Given the description of an element on the screen output the (x, y) to click on. 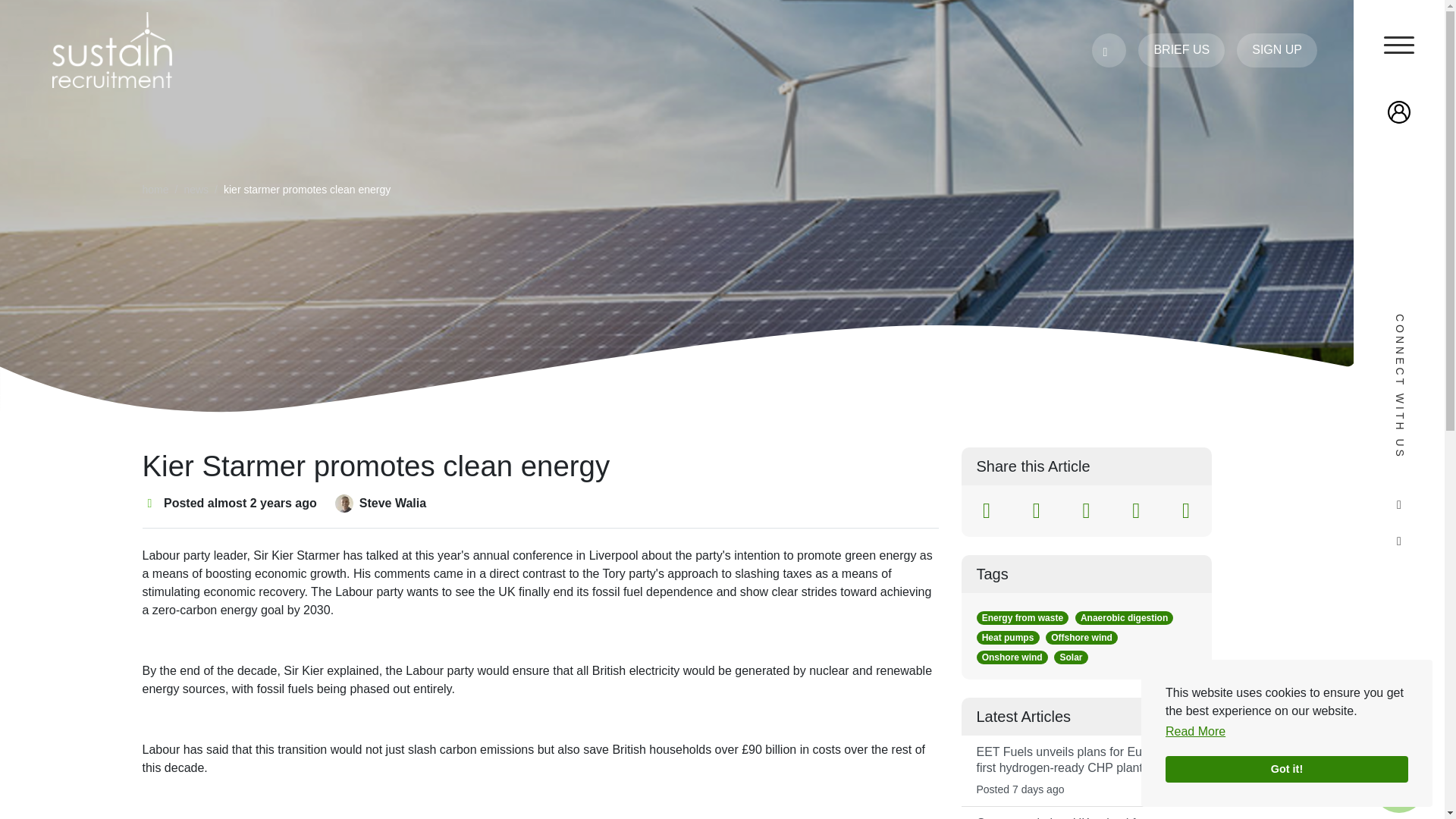
Author (343, 503)
Anaerobic digestion (1124, 617)
Publish Date (149, 503)
Got it! (1228, 771)
BRIEF US (1181, 50)
0121 455 9306 (1108, 50)
Job Search (1399, 786)
SIGN UP (1276, 50)
news (195, 190)
Read More (1195, 738)
Energy from waste (1022, 617)
Job Search (1399, 786)
home (155, 190)
